Given the description of an element on the screen output the (x, y) to click on. 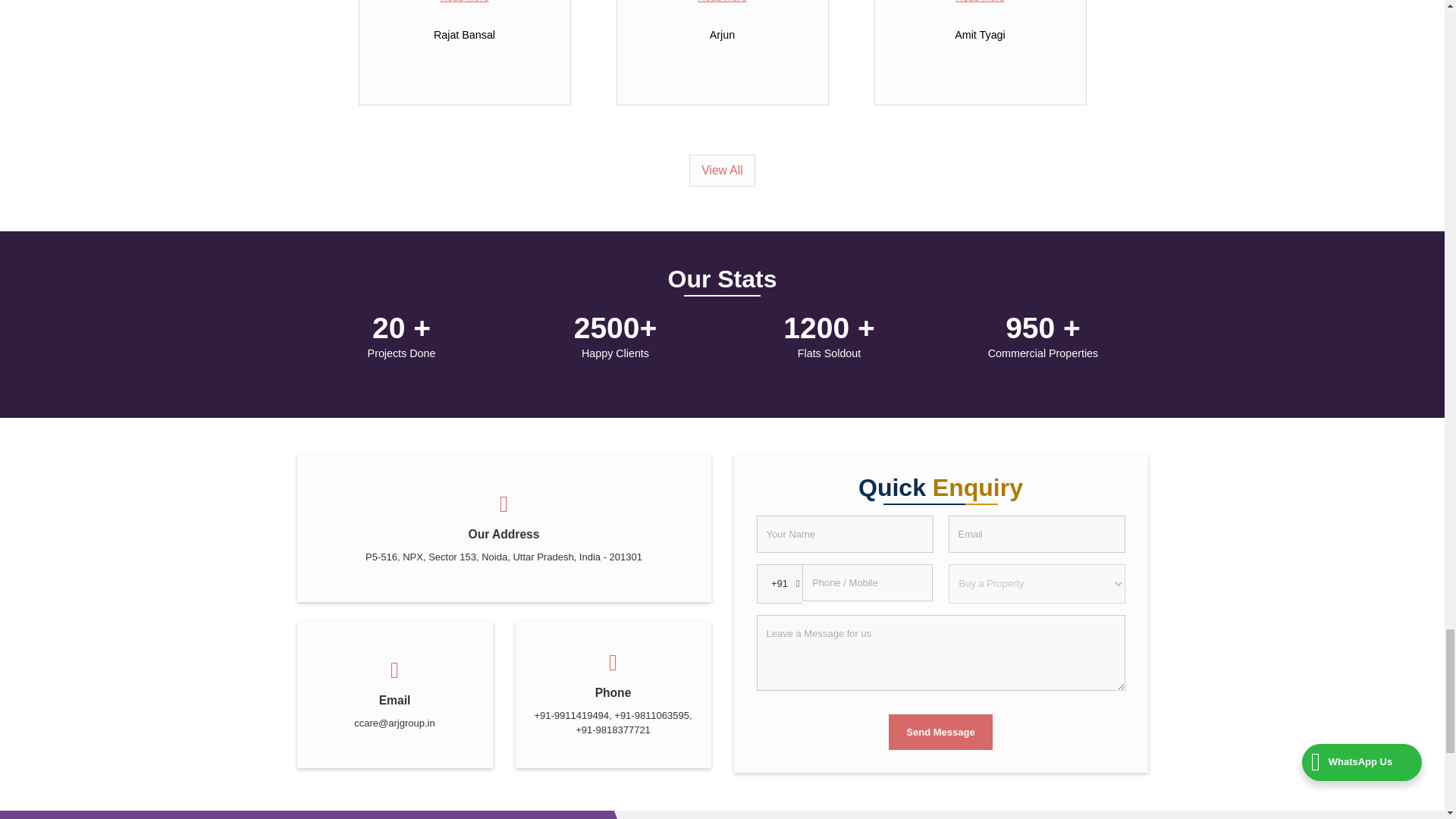
Send Message (939, 732)
